Given the description of an element on the screen output the (x, y) to click on. 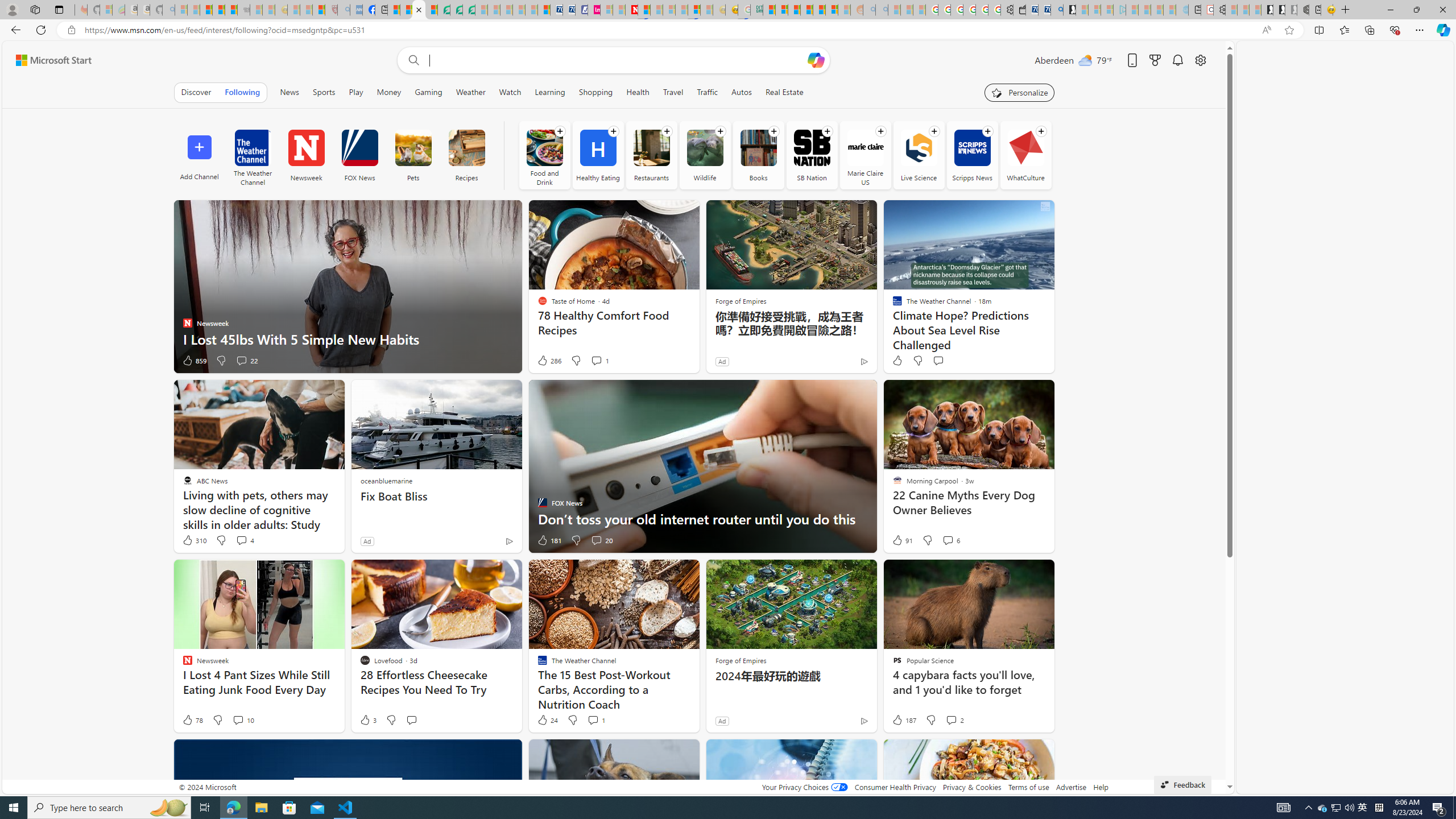
Recipes (466, 155)
SB Nation (811, 147)
Fix Boat Bliss (435, 496)
Local - MSN (318, 9)
Jobs - lastminute.com Investor Portal (593, 9)
